Given the description of an element on the screen output the (x, y) to click on. 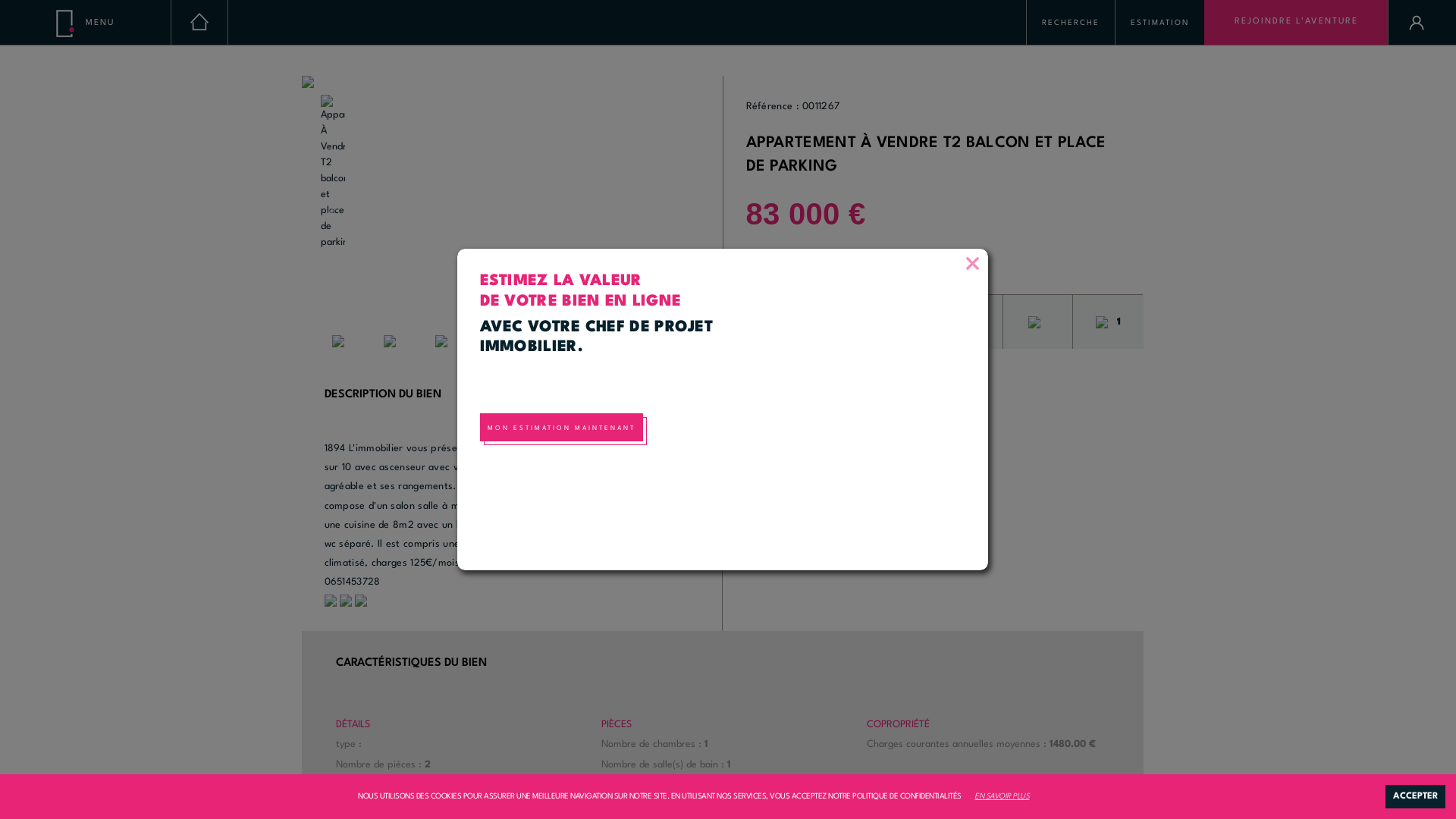
REJOINDRE L'AVENTURE Element type: text (1295, 22)
ACCEPTER Element type: text (1415, 796)
Previous Element type: text (332, 212)
Next Element type: text (689, 212)
MON ESTIMATION MAINTENANT Element type: text (560, 427)
EN SAVOIR PLUS Element type: text (1001, 796)
